Given the description of an element on the screen output the (x, y) to click on. 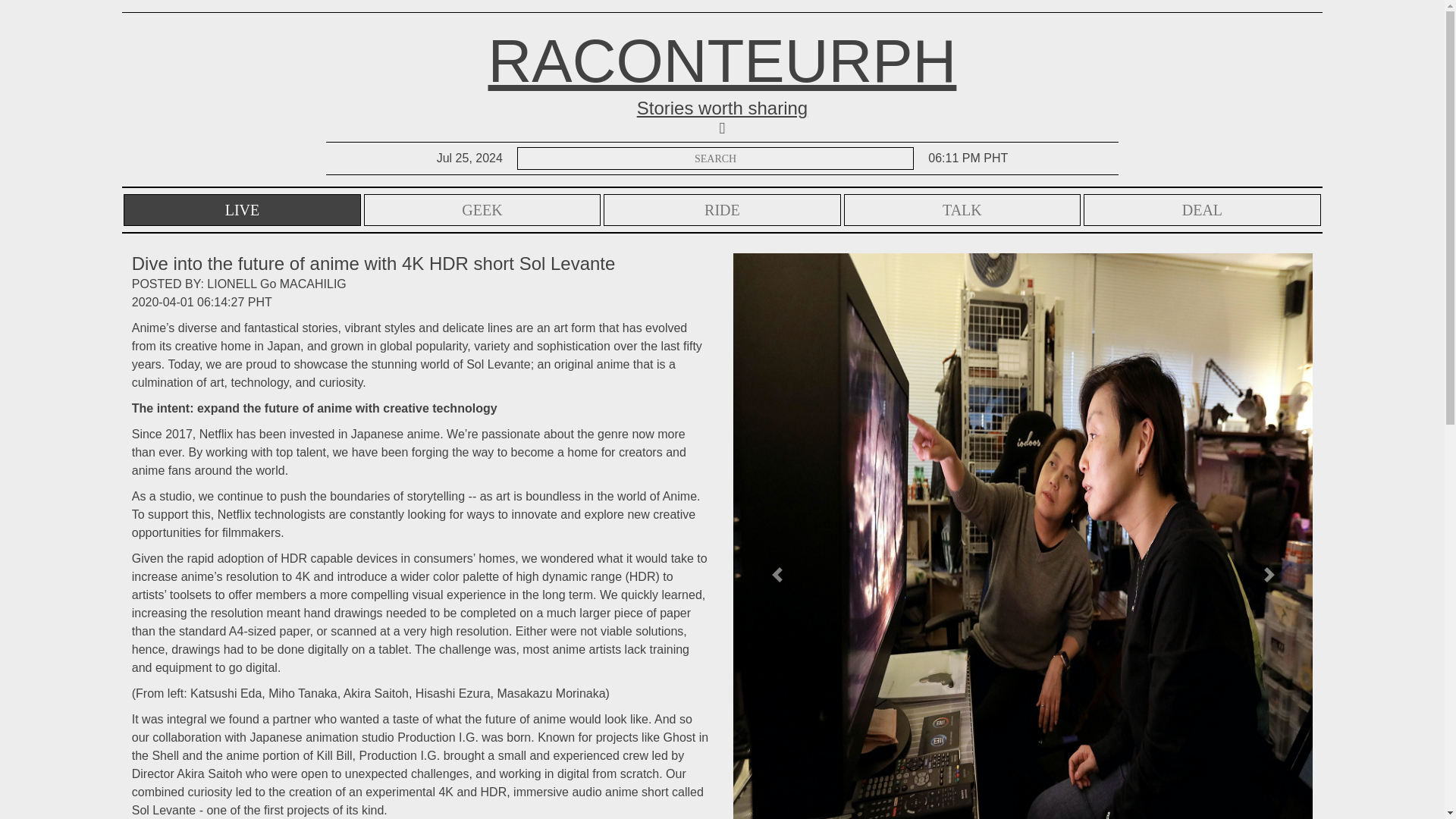
RIDE (722, 210)
TALK (962, 210)
RACONTEURPH (721, 61)
GEEK (481, 210)
DEAL (1201, 210)
